Given the description of an element on the screen output the (x, y) to click on. 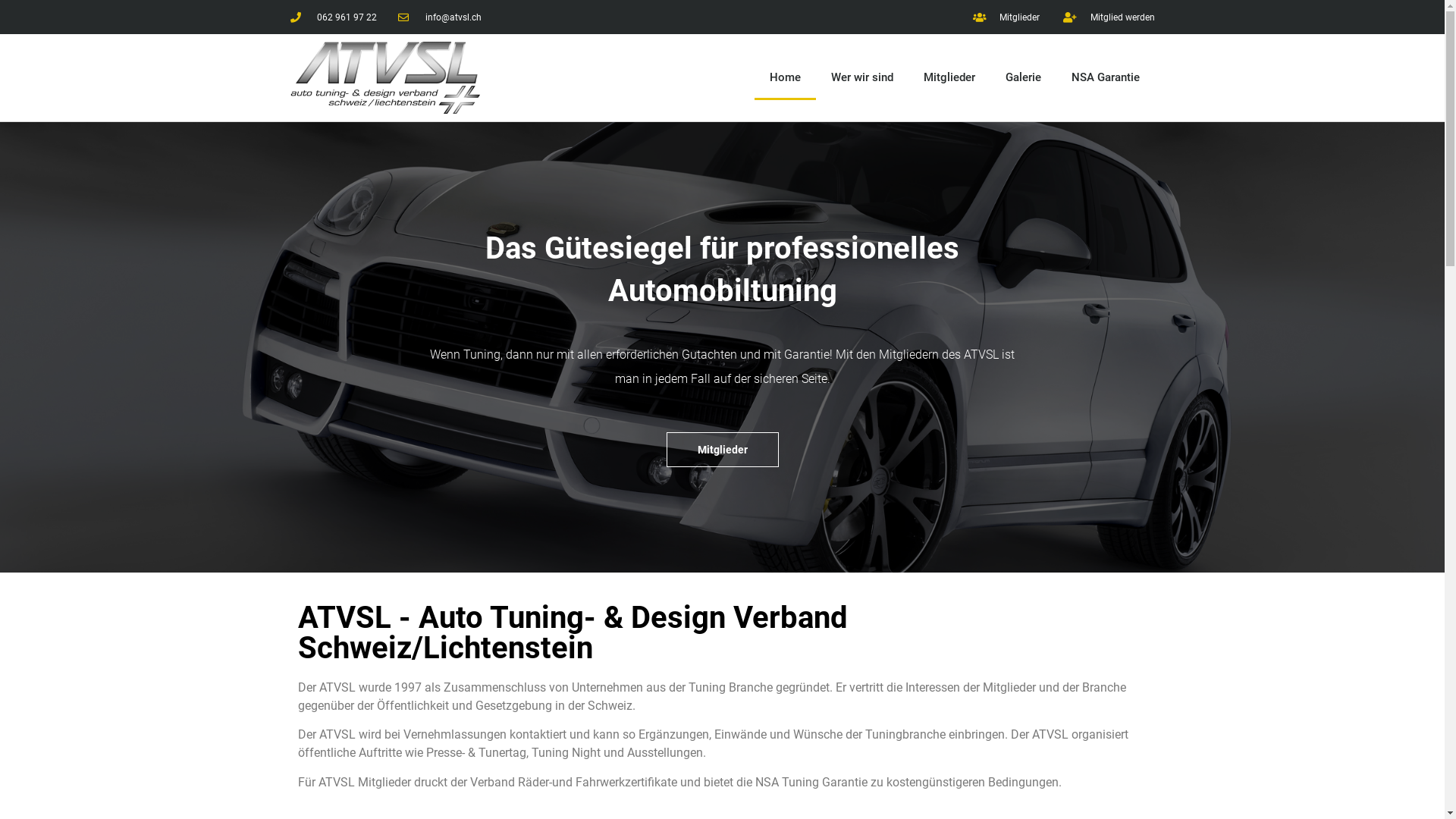
Mitglieder Element type: text (721, 449)
Mitglieder Element type: text (1005, 17)
Home Element type: text (784, 77)
NSA Garantie Element type: text (1104, 77)
Mitglied werden Element type: text (1108, 17)
Galerie Element type: text (1023, 77)
Mitglieder Element type: text (949, 77)
Wer wir sind Element type: text (861, 77)
info@atvsl.ch Element type: text (439, 17)
062 961 97 22 Element type: text (332, 17)
